Given the description of an element on the screen output the (x, y) to click on. 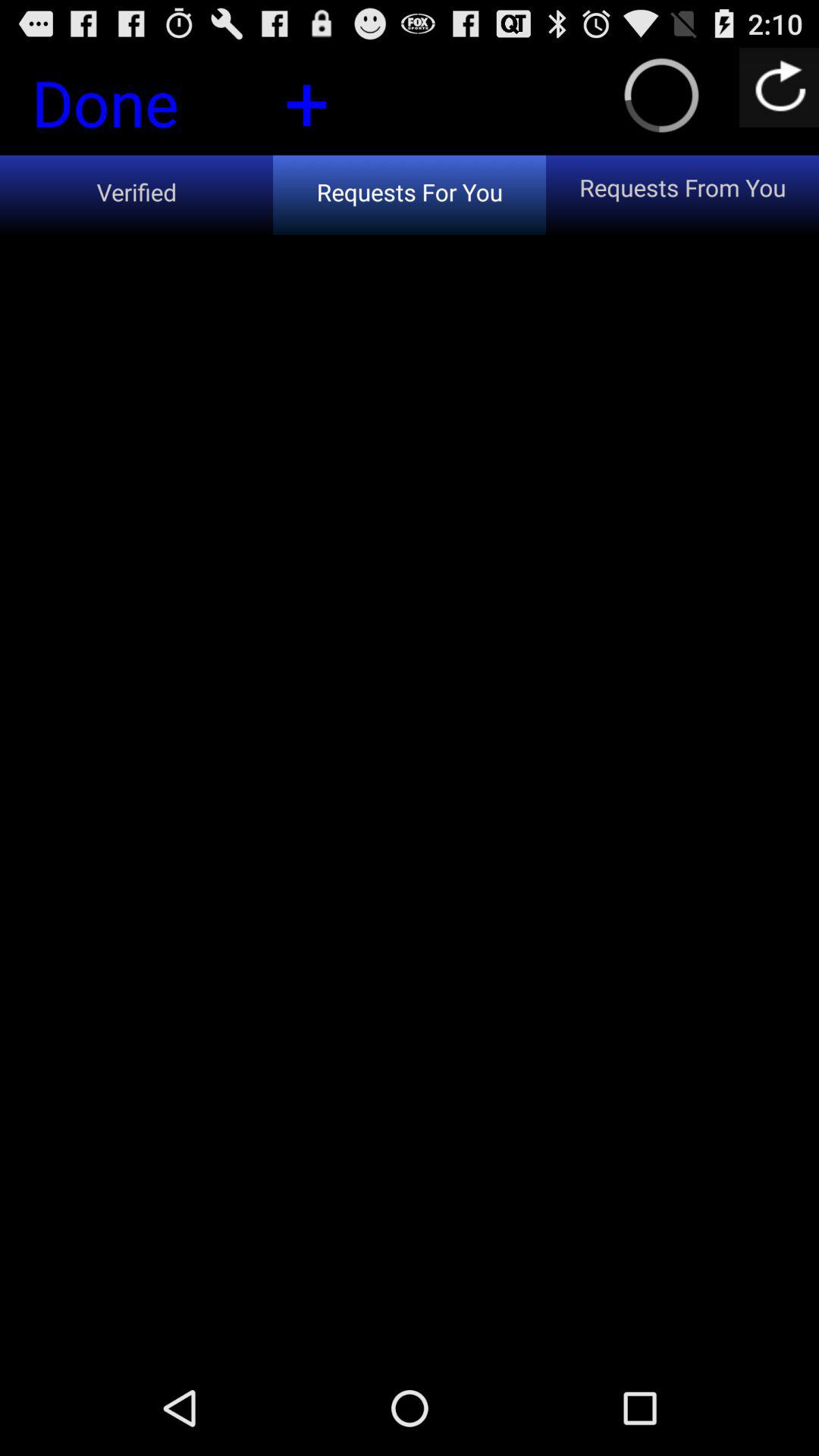
turn off the button next to + (130, 107)
